Given the description of an element on the screen output the (x, y) to click on. 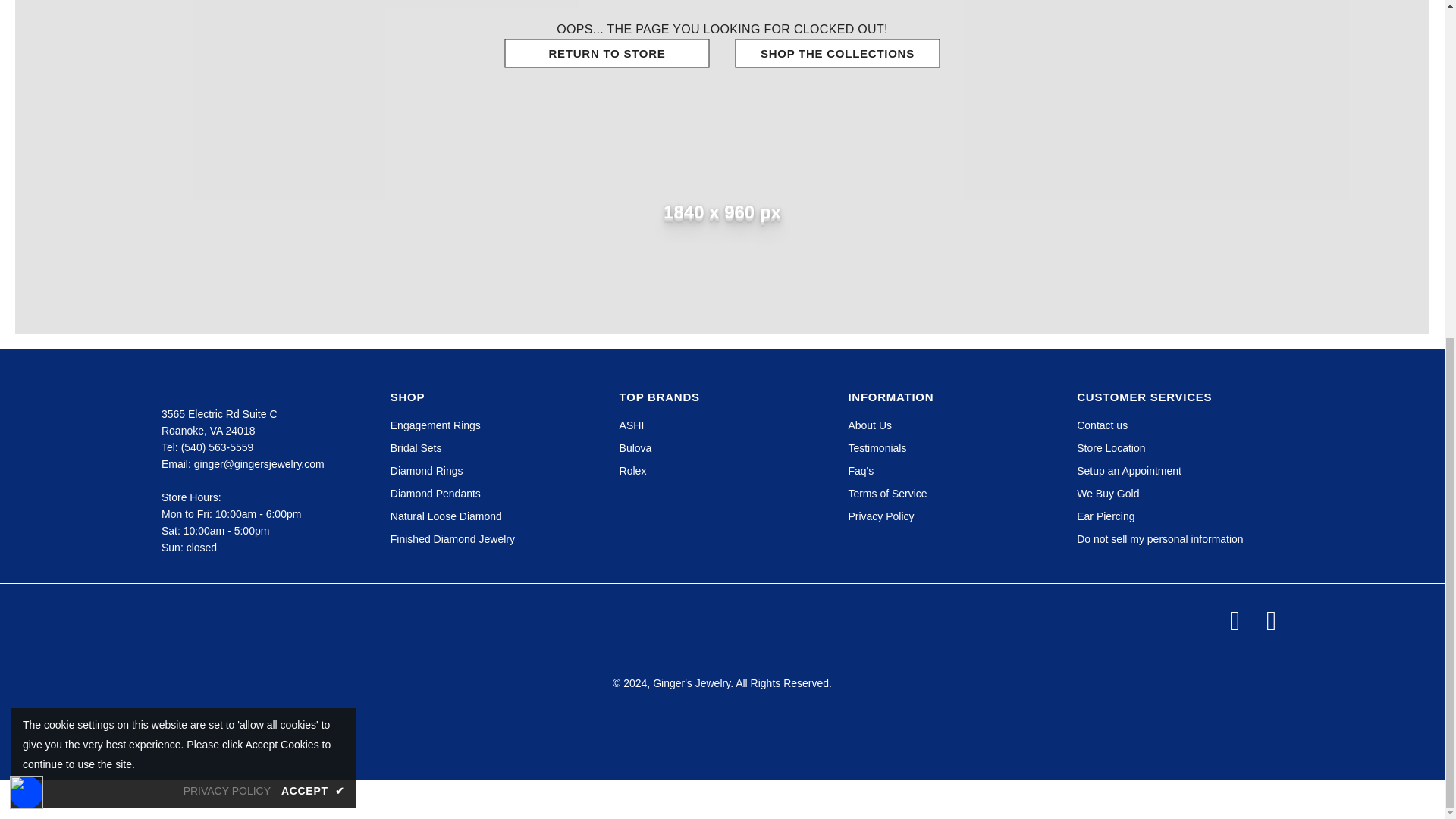
Accessibility Menu (26, 222)
